Given the description of an element on the screen output the (x, y) to click on. 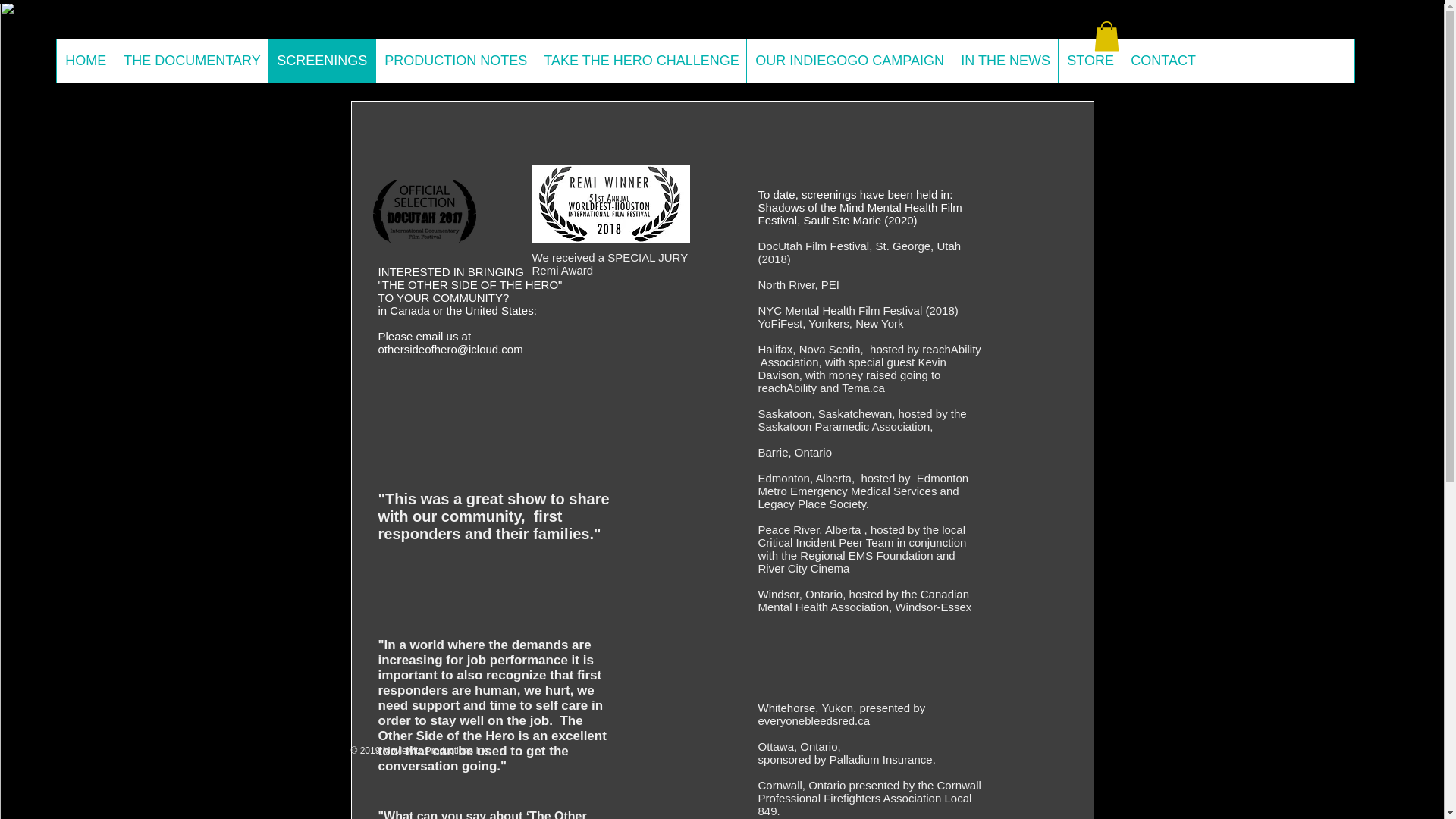
THE DOCUMENTARY (191, 60)
CONTACT (1161, 60)
PRODUCTION NOTES (454, 60)
OUR INDIEGOGO CAMPAIGN (848, 60)
TAKE THE HERO CHALLENGE (639, 60)
IN THE NEWS (1005, 60)
SCREENINGS (321, 60)
HOME (85, 60)
STORE (1089, 60)
